Given the description of an element on the screen output the (x, y) to click on. 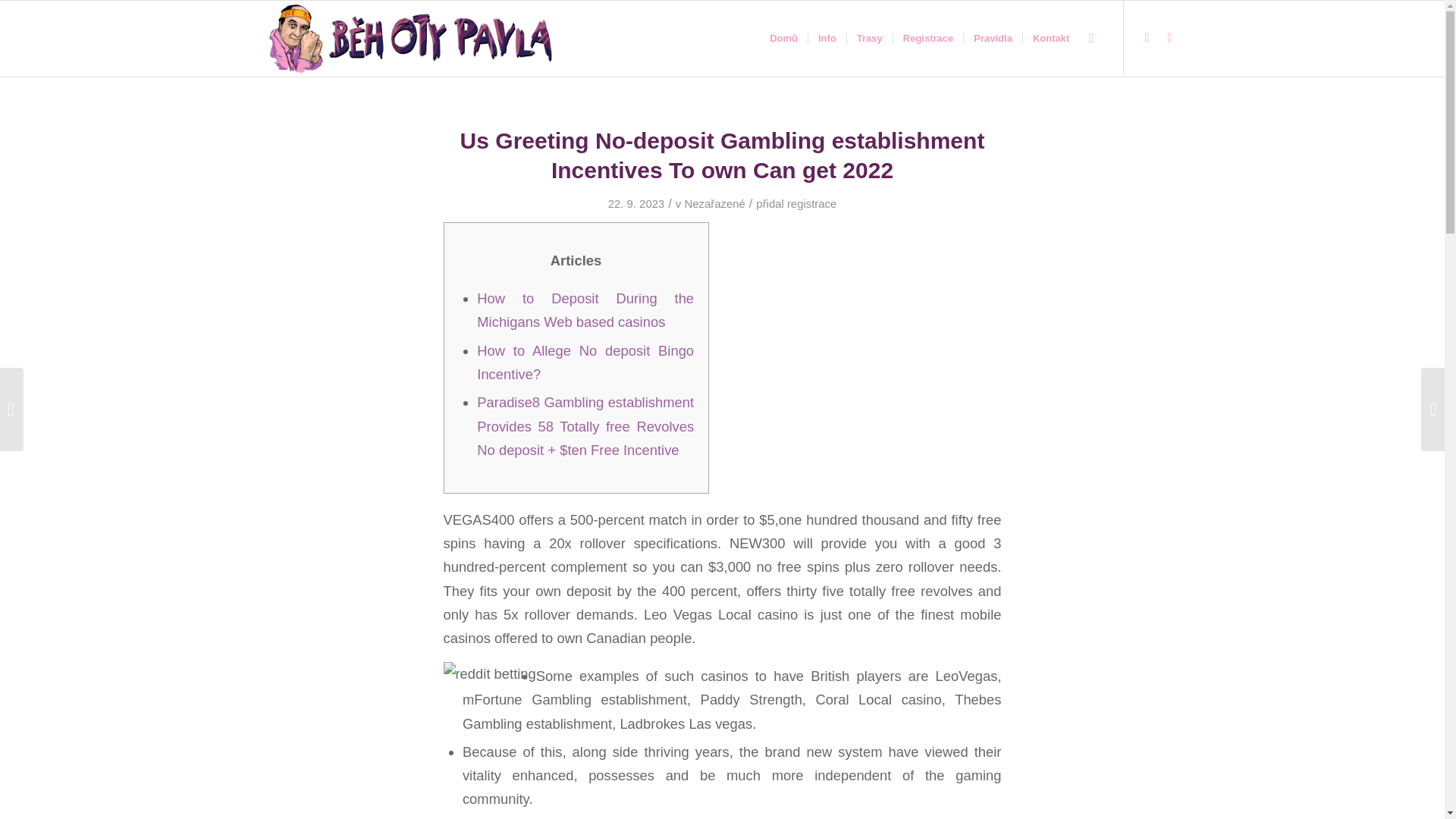
Facebook (1146, 37)
Registrace (927, 38)
How to Allege No deposit Bingo Incentive? (585, 362)
registrace (811, 203)
Logo Beh Oty Pavla (409, 38)
How to Deposit During the Michigans Web based casinos (585, 310)
Strava (1169, 37)
